Given the description of an element on the screen output the (x, y) to click on. 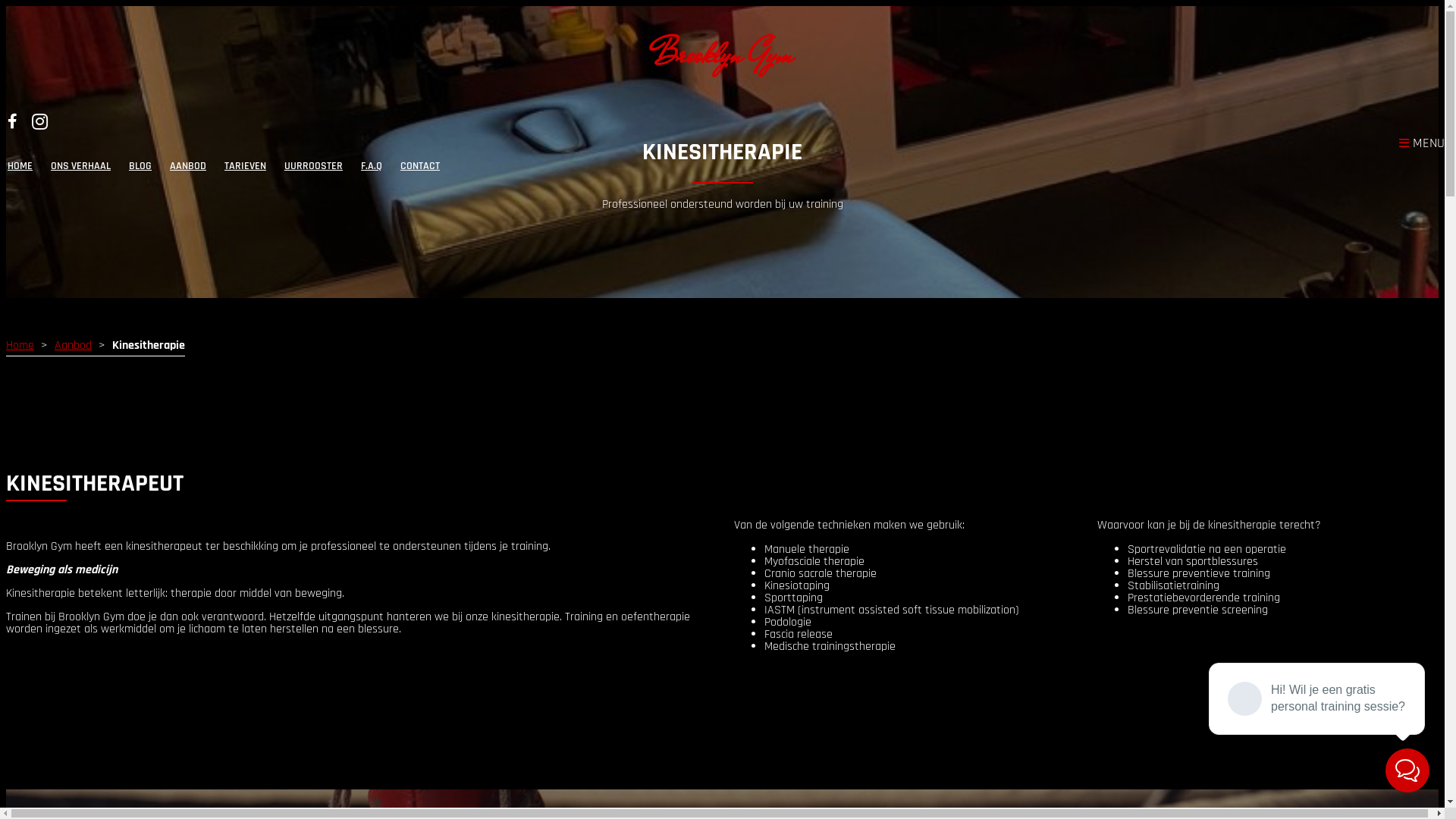
UURROOSTER Element type: text (313, 166)
Aanbod Element type: text (72, 345)
AANBOD Element type: text (187, 166)
HOME Element type: text (19, 166)
CONTACT Element type: text (419, 166)
Home Element type: text (20, 345)
TARIEVEN Element type: text (245, 166)
F.A.Q Element type: text (371, 166)
BLOG Element type: text (139, 166)
ONS VERHAAL Element type: text (80, 166)
